Given the description of an element on the screen output the (x, y) to click on. 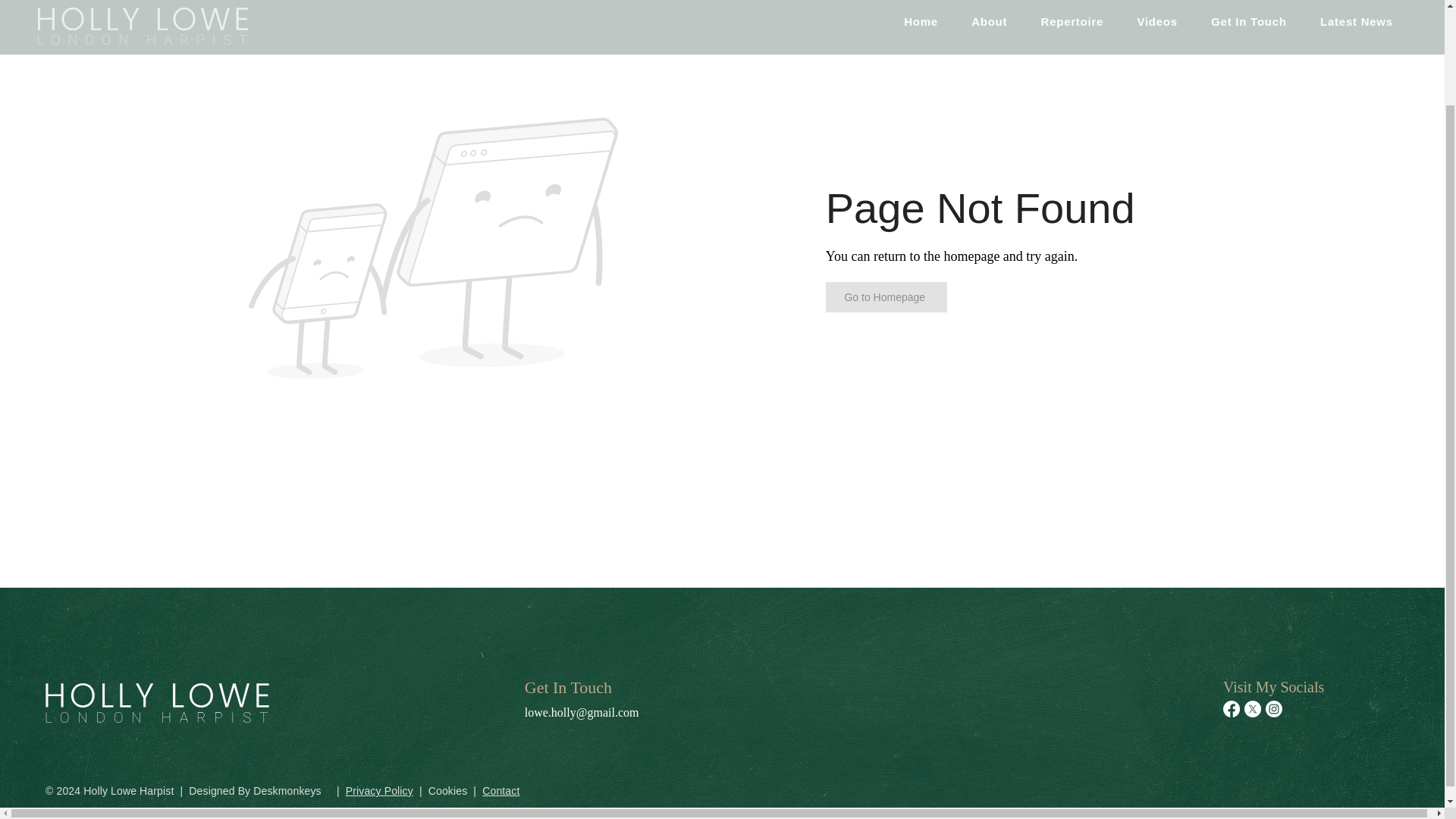
Get In Touch (567, 687)
Contact (500, 790)
Go to Homepage (886, 296)
Privacy Policy (379, 790)
